Given the description of an element on the screen output the (x, y) to click on. 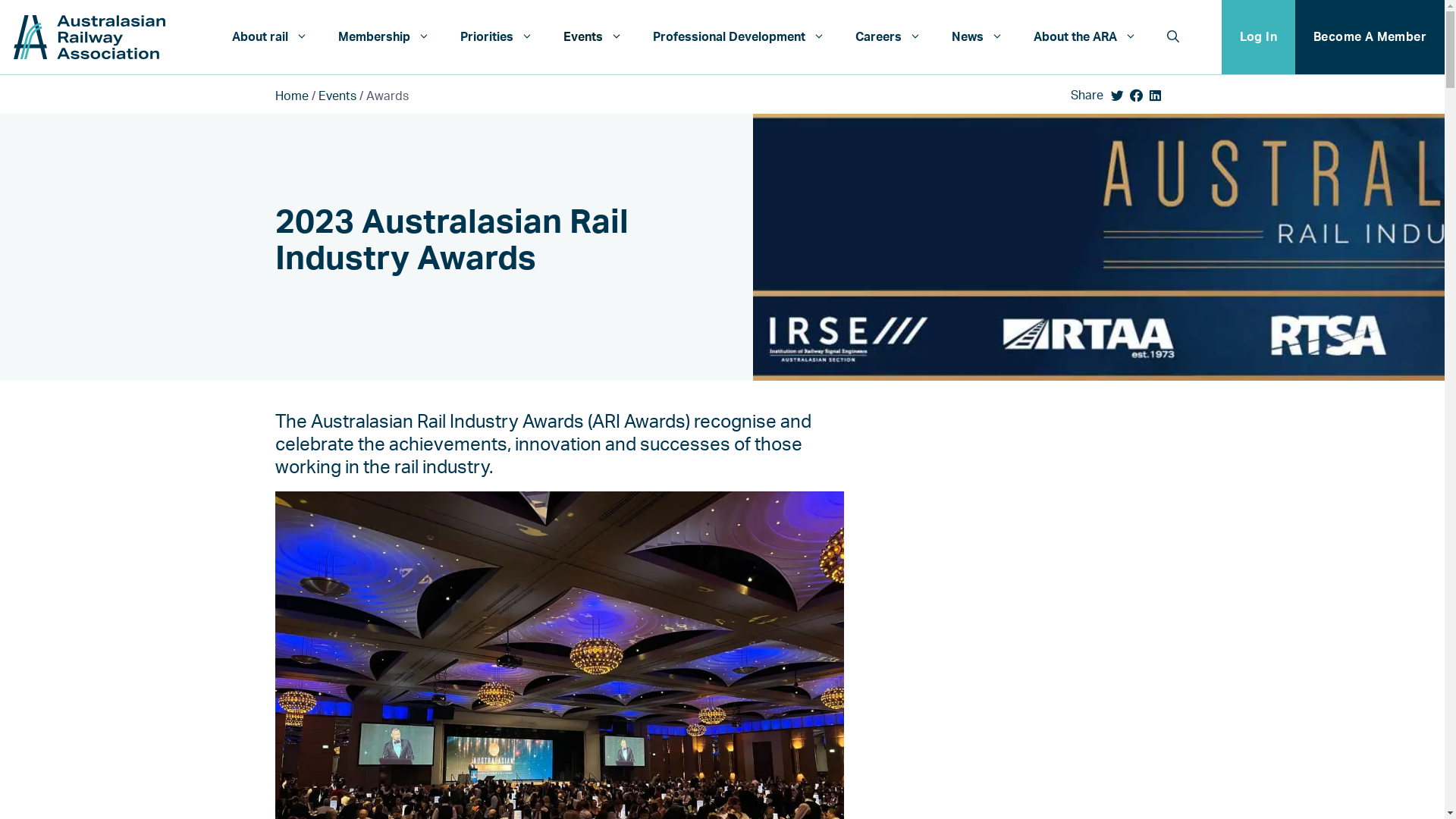
News Element type: text (977, 36)
Australasian Railway Association Element type: hover (89, 37)
Become A Member Element type: text (1369, 37)
Professional Development Element type: text (738, 36)
Australasian Railway Association Element type: hover (89, 36)
Log In Element type: text (1258, 37)
About the ARA Element type: text (1084, 36)
Click to share on LinkedIn (Opens in new window) Element type: text (1153, 95)
Events Element type: text (592, 36)
Home Element type: text (290, 95)
Click to share on Facebook (Opens in new window) Element type: text (1135, 95)
Membership Element type: text (384, 36)
Careers Element type: text (888, 36)
Click to share on Twitter (Opens in new window) Element type: text (1115, 95)
Events Element type: text (337, 95)
Priorities Element type: text (496, 36)
About rail Element type: text (269, 36)
